Given the description of an element on the screen output the (x, y) to click on. 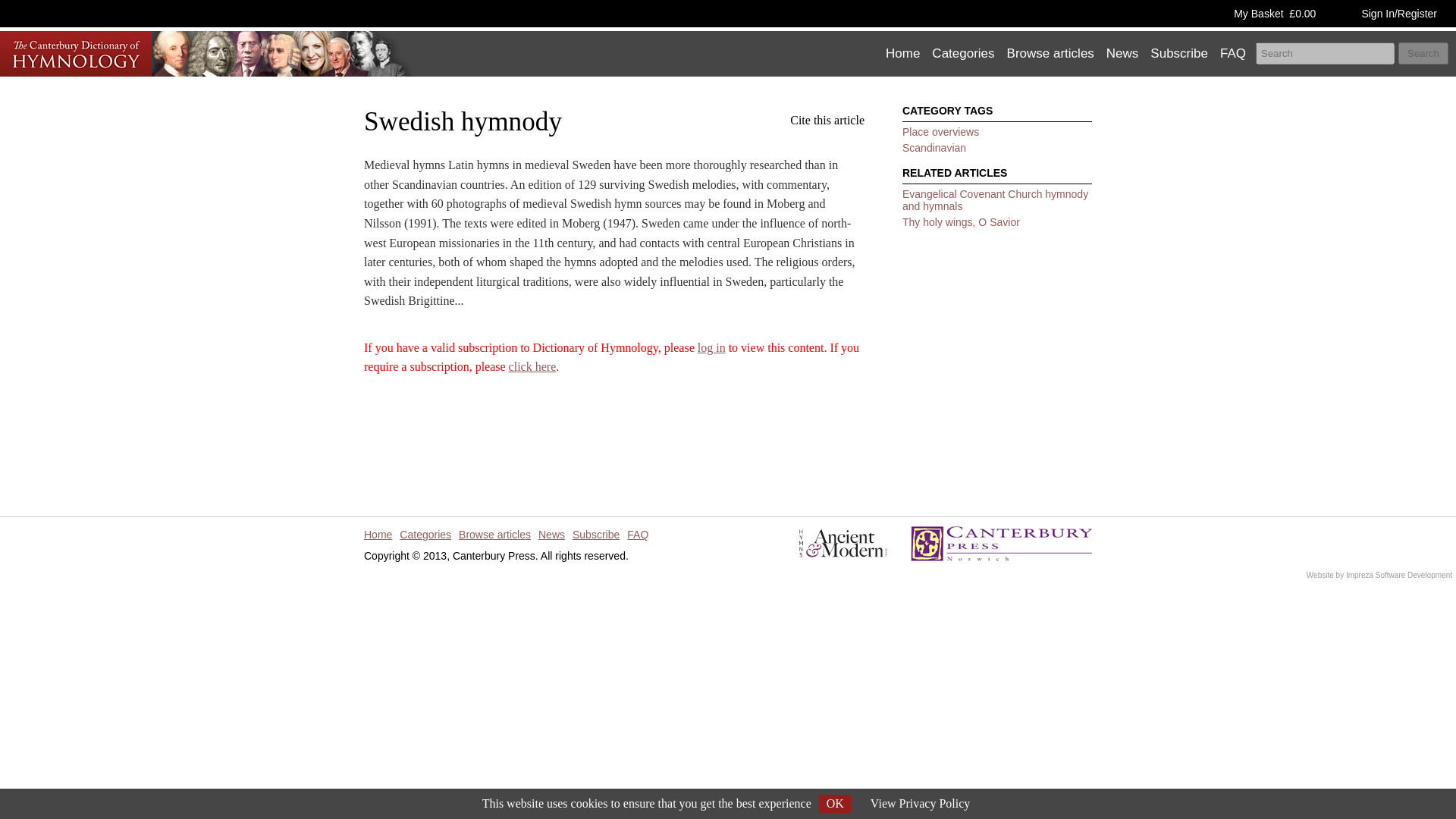
Scandinavian (934, 147)
Thy holy wings, O Savior (961, 222)
Software Development (1413, 574)
Subscribe (599, 534)
Browse articles (1050, 53)
Search (1422, 53)
Subscribe (1179, 53)
Evangelical Covenant Church hymnody and hymnals (994, 200)
News (1122, 53)
click here (532, 366)
FAQ (641, 534)
Search (1422, 53)
Categories (428, 534)
log in (711, 347)
Opens in a new window (1413, 574)
